Given the description of an element on the screen output the (x, y) to click on. 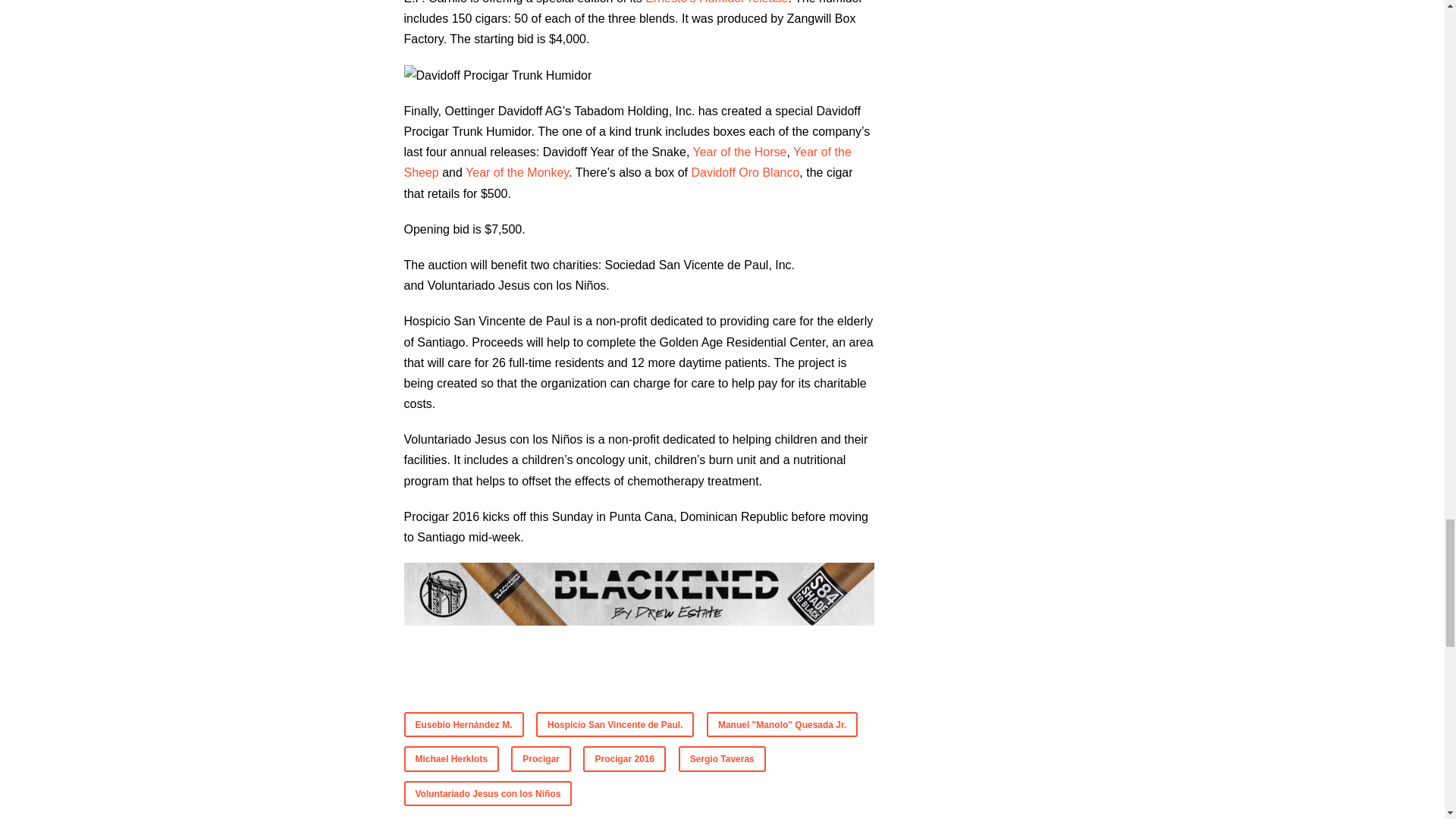
Page 2 (638, 429)
